Given the description of an element on the screen output the (x, y) to click on. 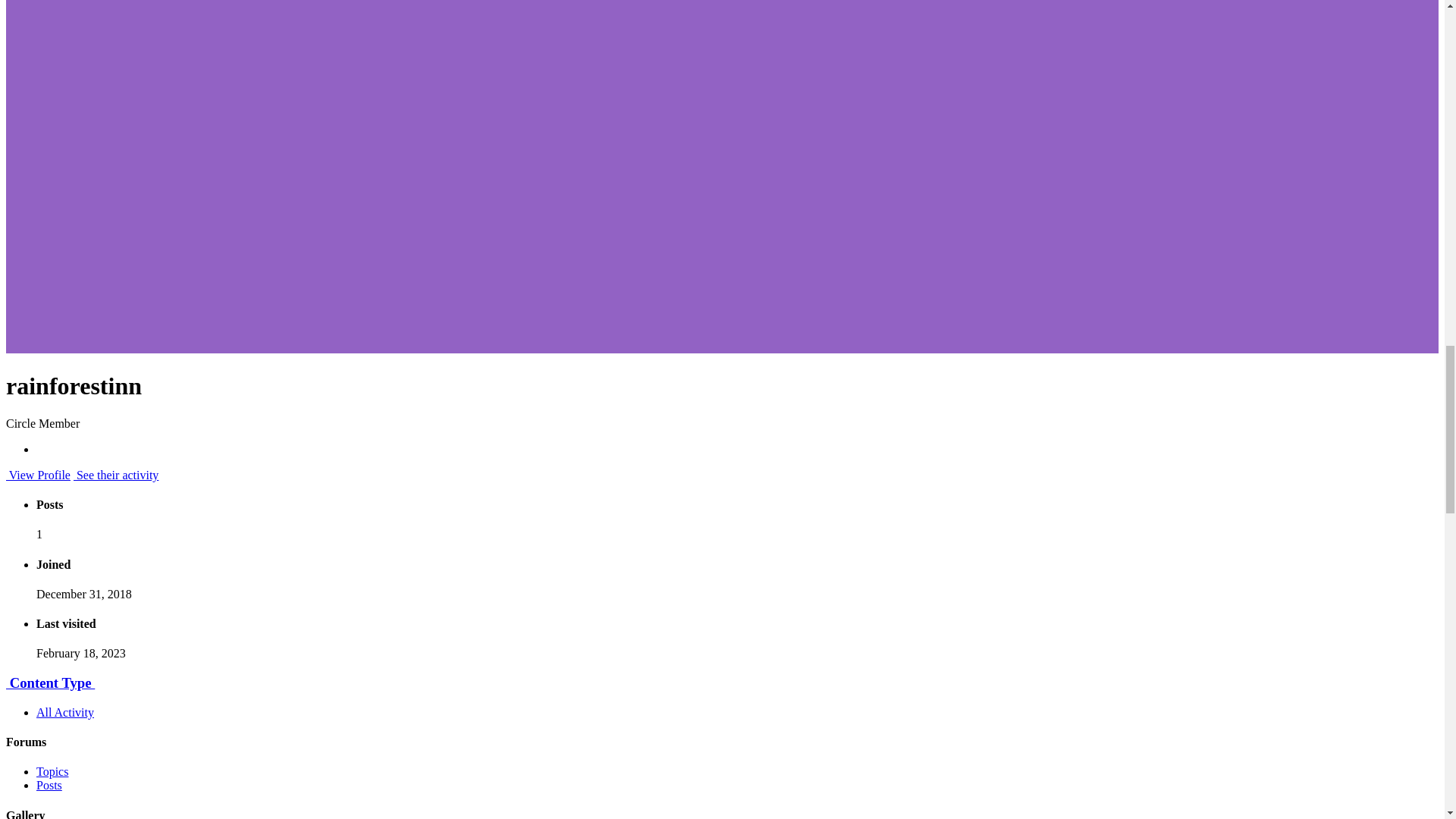
 See their activity (116, 474)
All Activity (65, 712)
Topics (52, 771)
rainforestinn's Profile (37, 474)
rainforestinn's Content (116, 474)
 View Profile (37, 474)
 Content Type  (49, 682)
